Given the description of an element on the screen output the (x, y) to click on. 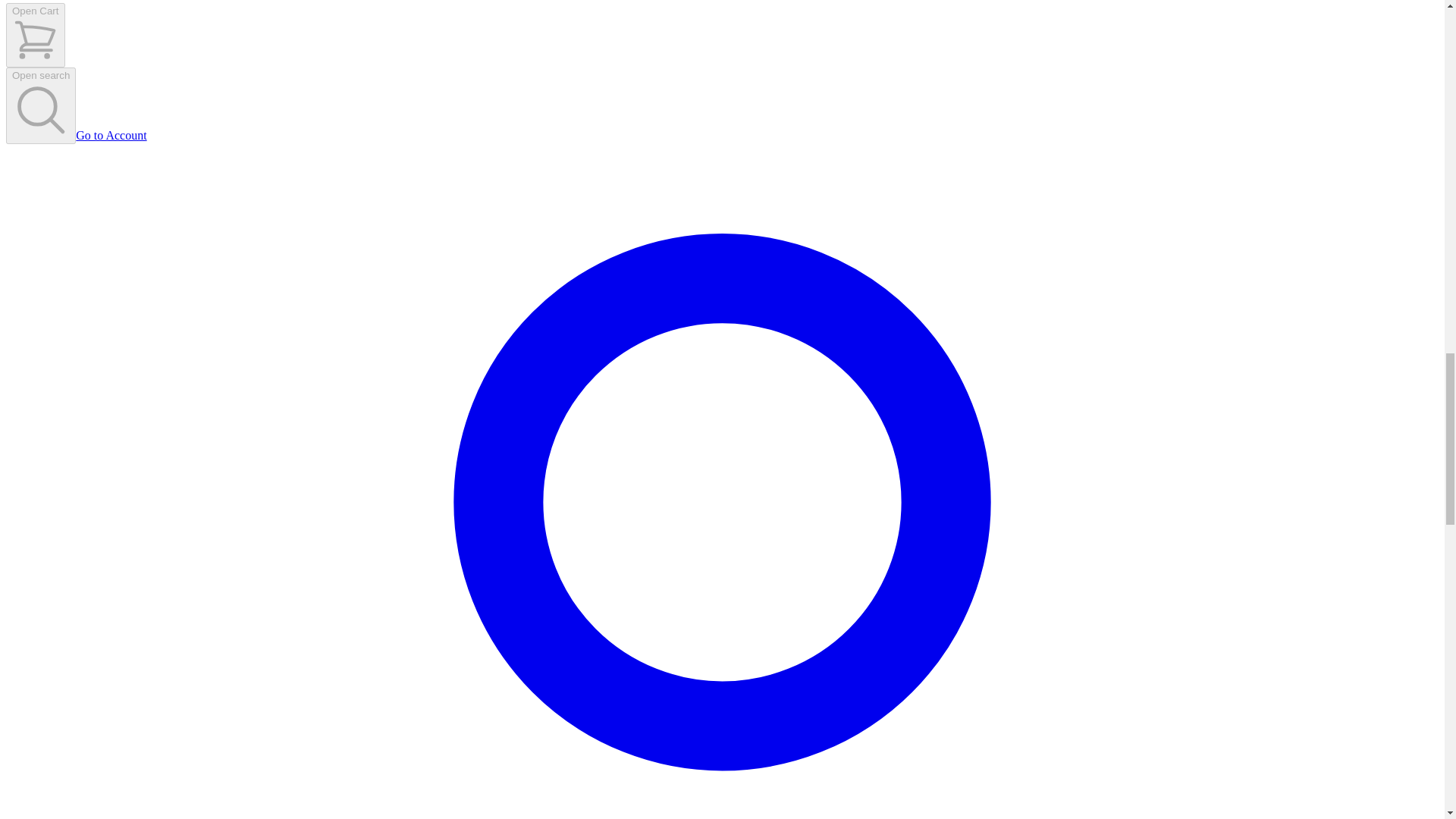
Open search (40, 105)
Open Cart (35, 35)
